Given the description of an element on the screen output the (x, y) to click on. 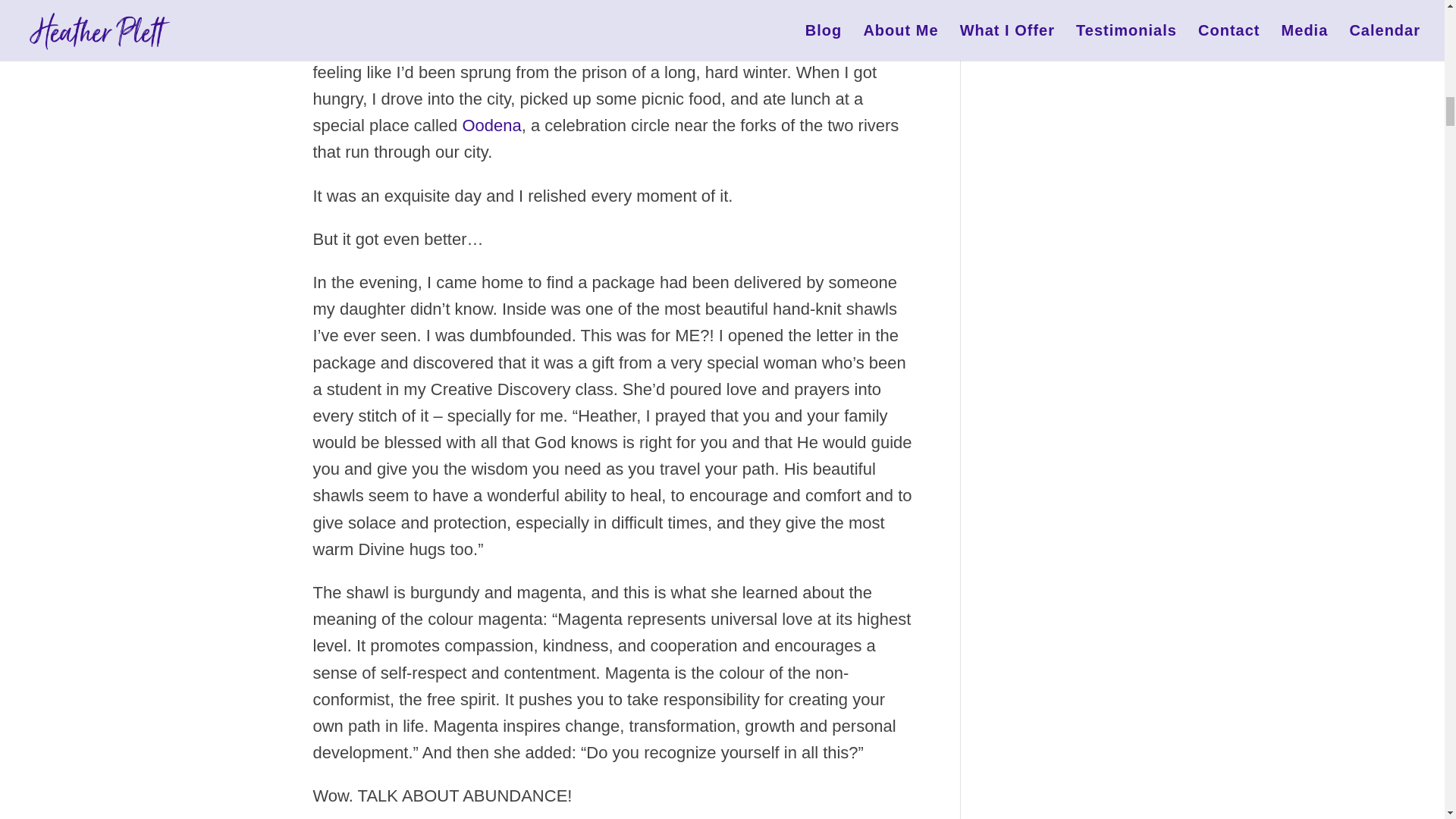
Oodena (491, 125)
